Given the description of an element on the screen output the (x, y) to click on. 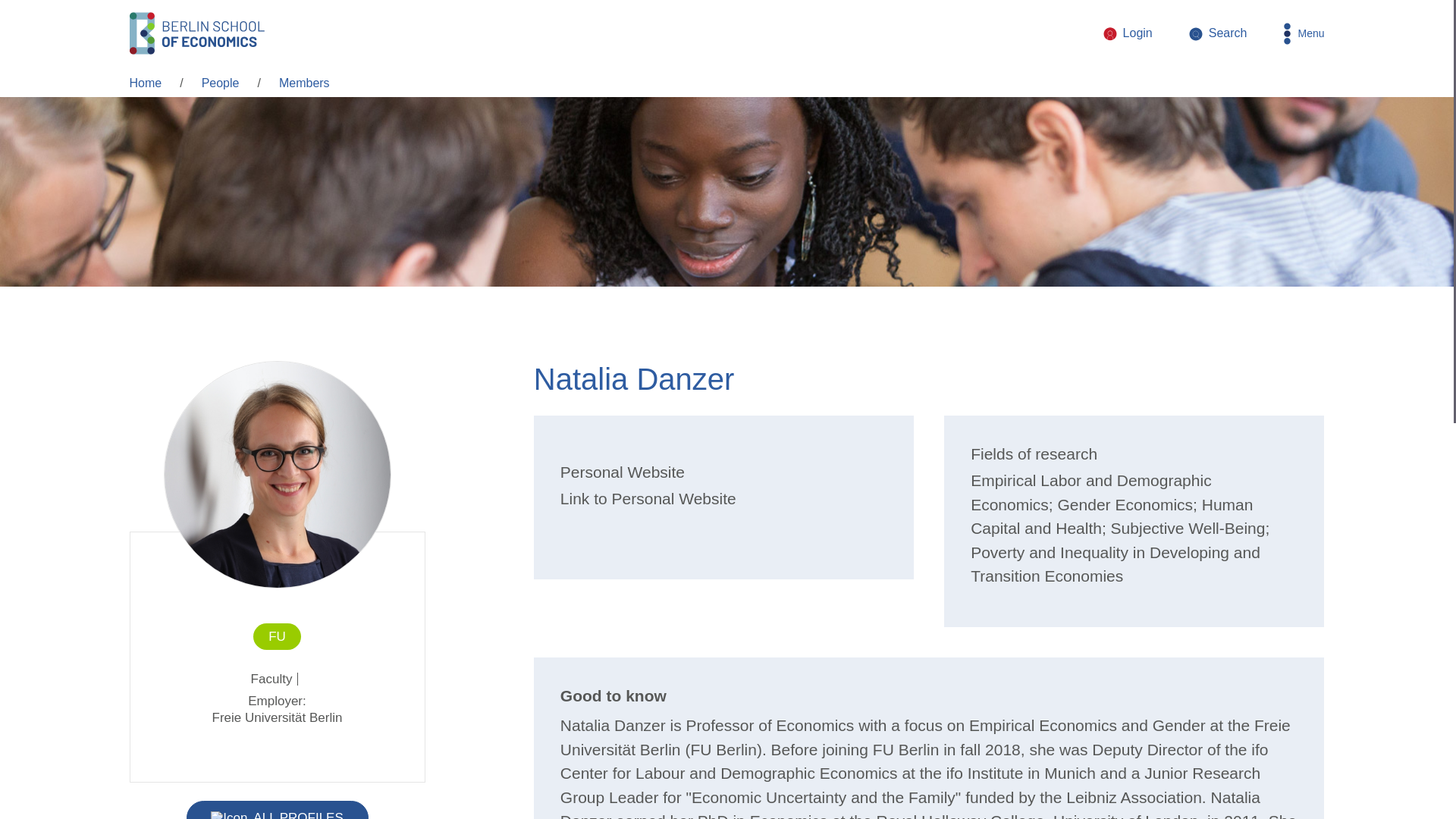
Login (1128, 33)
Search (1218, 33)
Search (1227, 33)
Menu (1302, 33)
Login (1137, 33)
